Given the description of an element on the screen output the (x, y) to click on. 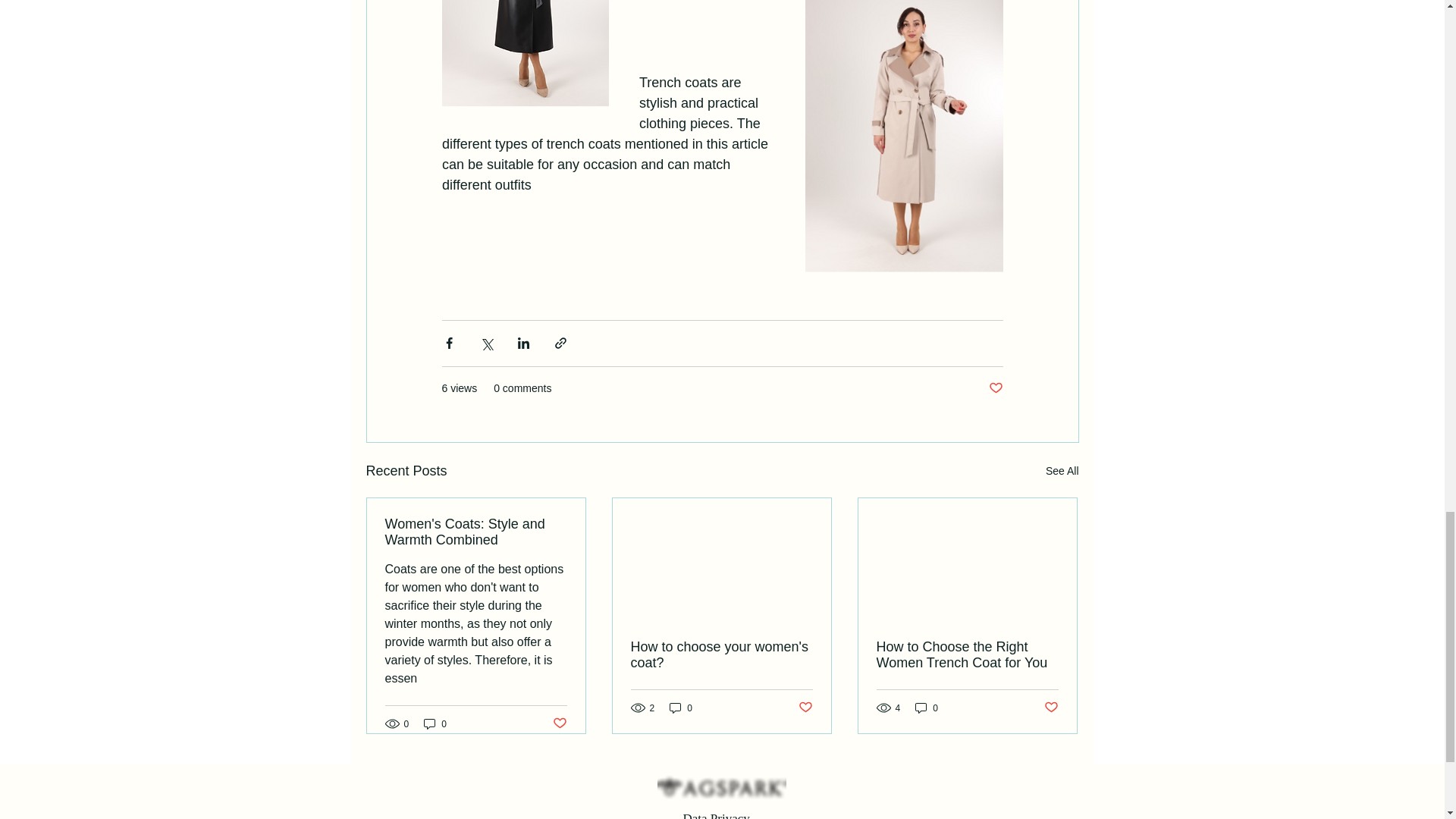
How to Choose the Right Women Trench Coat for You (967, 654)
Post not marked as liked (804, 707)
Data Privacy (715, 815)
See All (1061, 471)
Post not marked as liked (995, 388)
Women's Coats: Style and Warmth Combined (476, 531)
How to choose your women's coat? (721, 654)
0 (681, 707)
Post not marked as liked (1050, 707)
AgsLogoVector.png (721, 786)
